Given the description of an element on the screen output the (x, y) to click on. 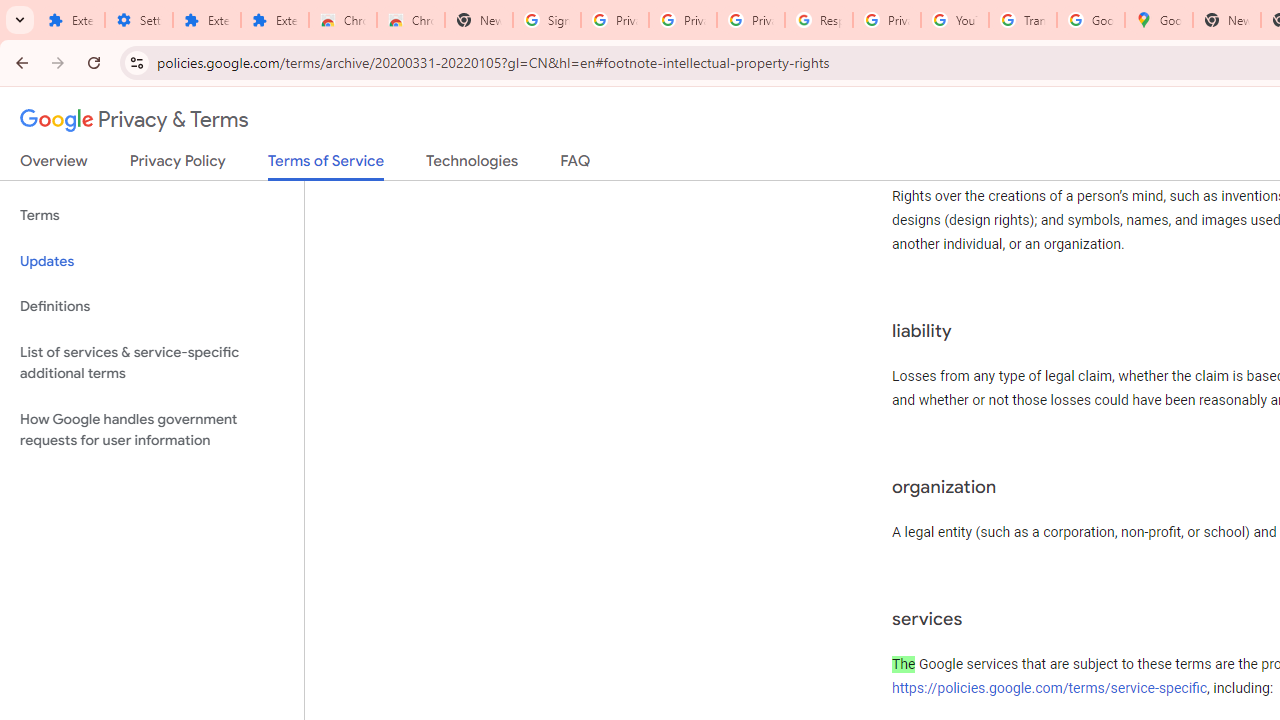
Extensions (206, 20)
Extensions (274, 20)
